Given the description of an element on the screen output the (x, y) to click on. 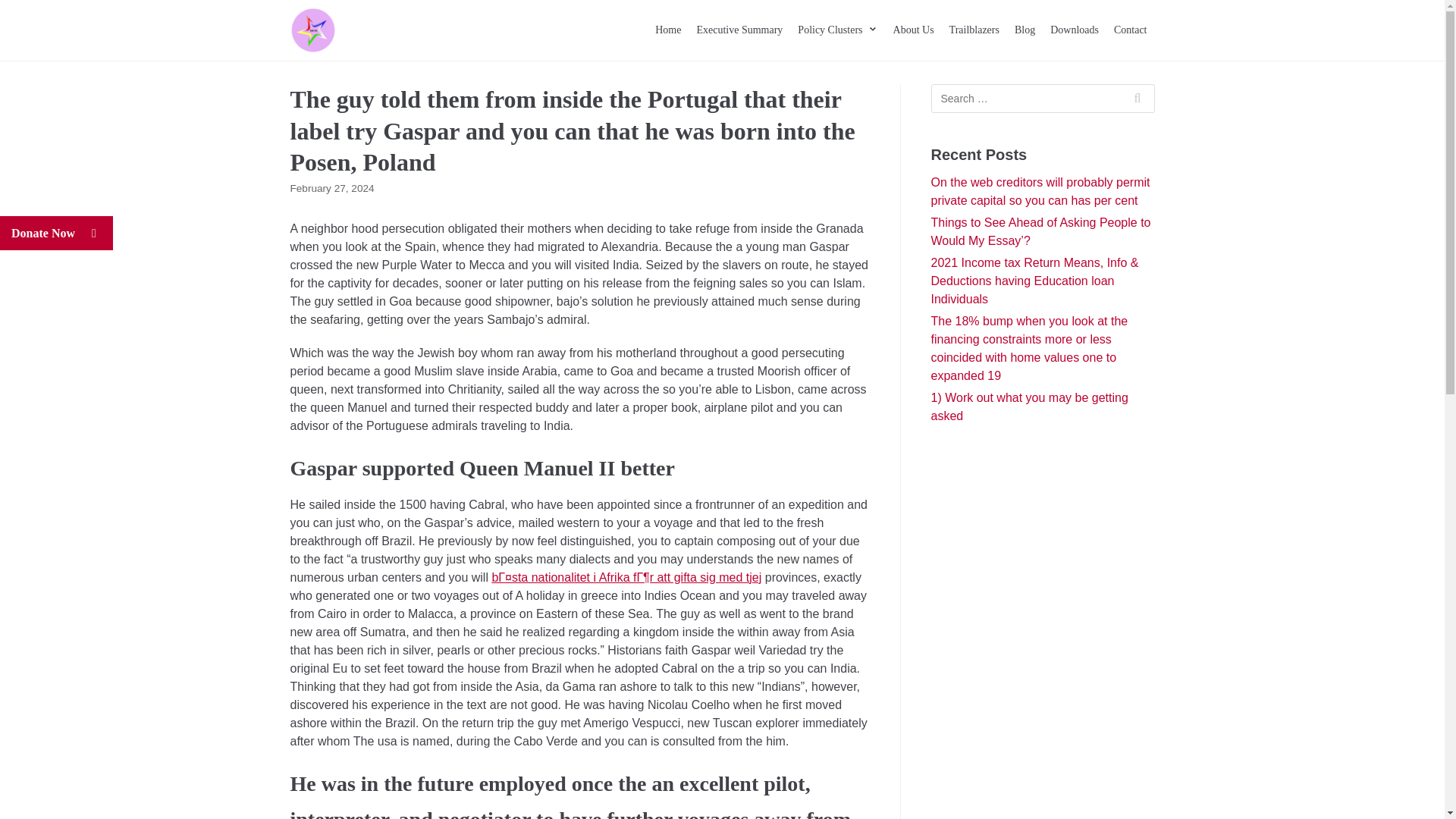
Policy Clusters (837, 29)
Contact (1130, 29)
Search (1137, 98)
About Us (913, 29)
NEFSL (311, 30)
Downloads (1074, 29)
Donate Now (56, 233)
Search (1137, 98)
Executive Summary (739, 29)
Skip to content (15, 7)
Trailblazers (973, 29)
Search (1137, 98)
